Given the description of an element on the screen output the (x, y) to click on. 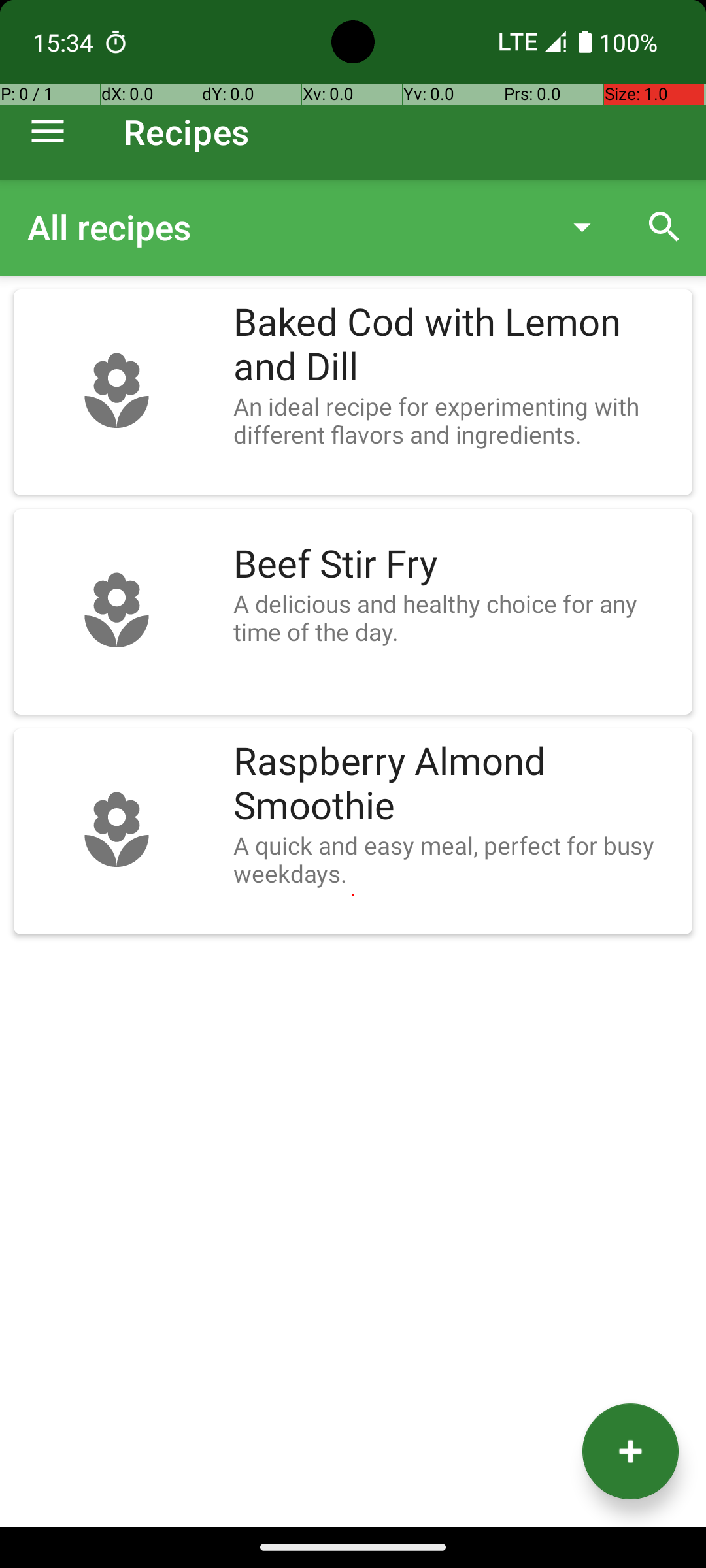
Raspberry Almond Smoothie Element type: android.widget.TextView (455, 783)
